Given the description of an element on the screen output the (x, y) to click on. 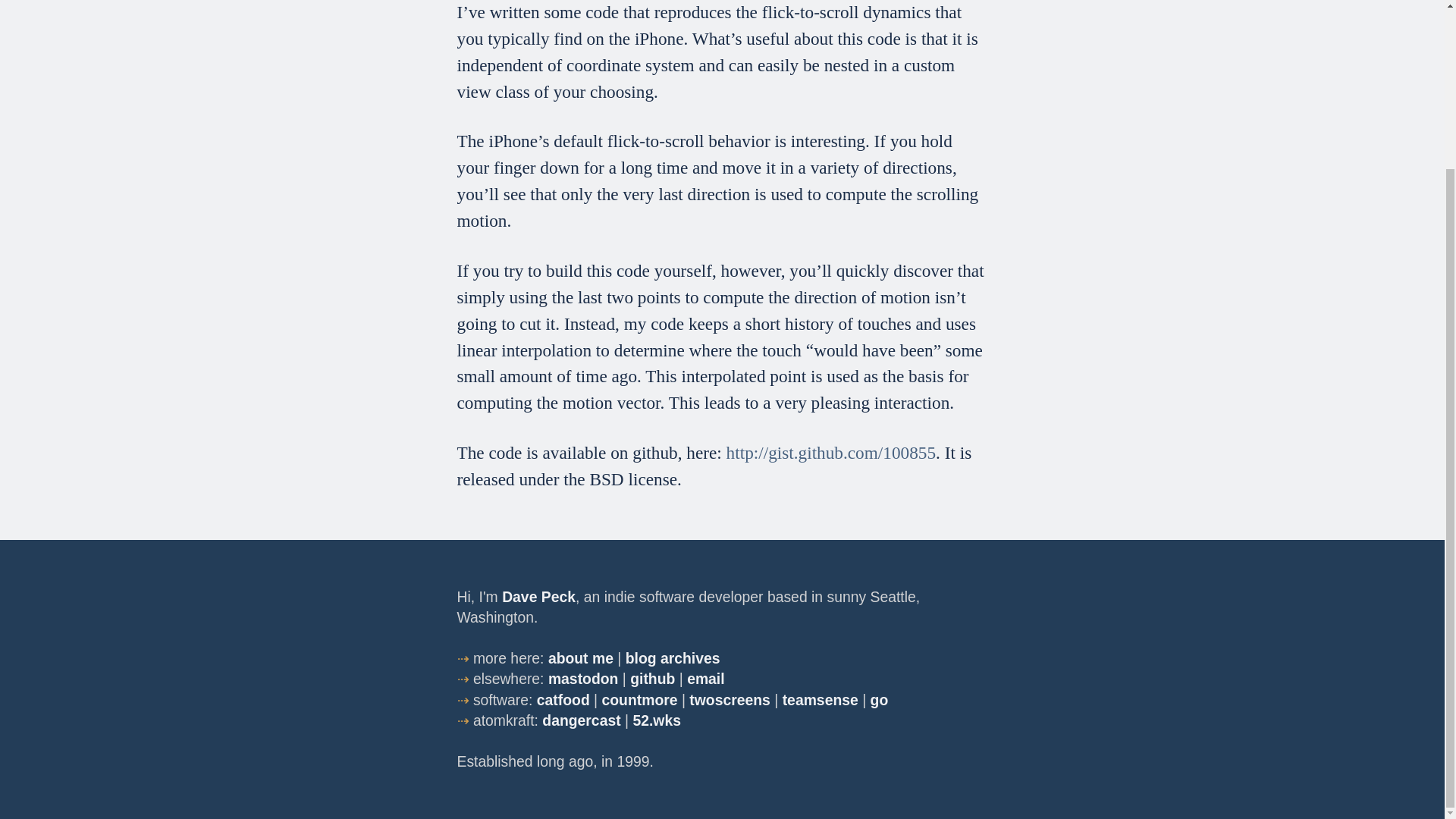
countmore (640, 699)
52.wks (656, 719)
mastodon (583, 678)
catfood (563, 699)
blog archives (673, 658)
twoscreens (729, 699)
dangercast (580, 719)
go (879, 699)
Dave Peck (538, 596)
about me (580, 658)
teamsense (821, 699)
github (652, 678)
email (706, 678)
